Given the description of an element on the screen output the (x, y) to click on. 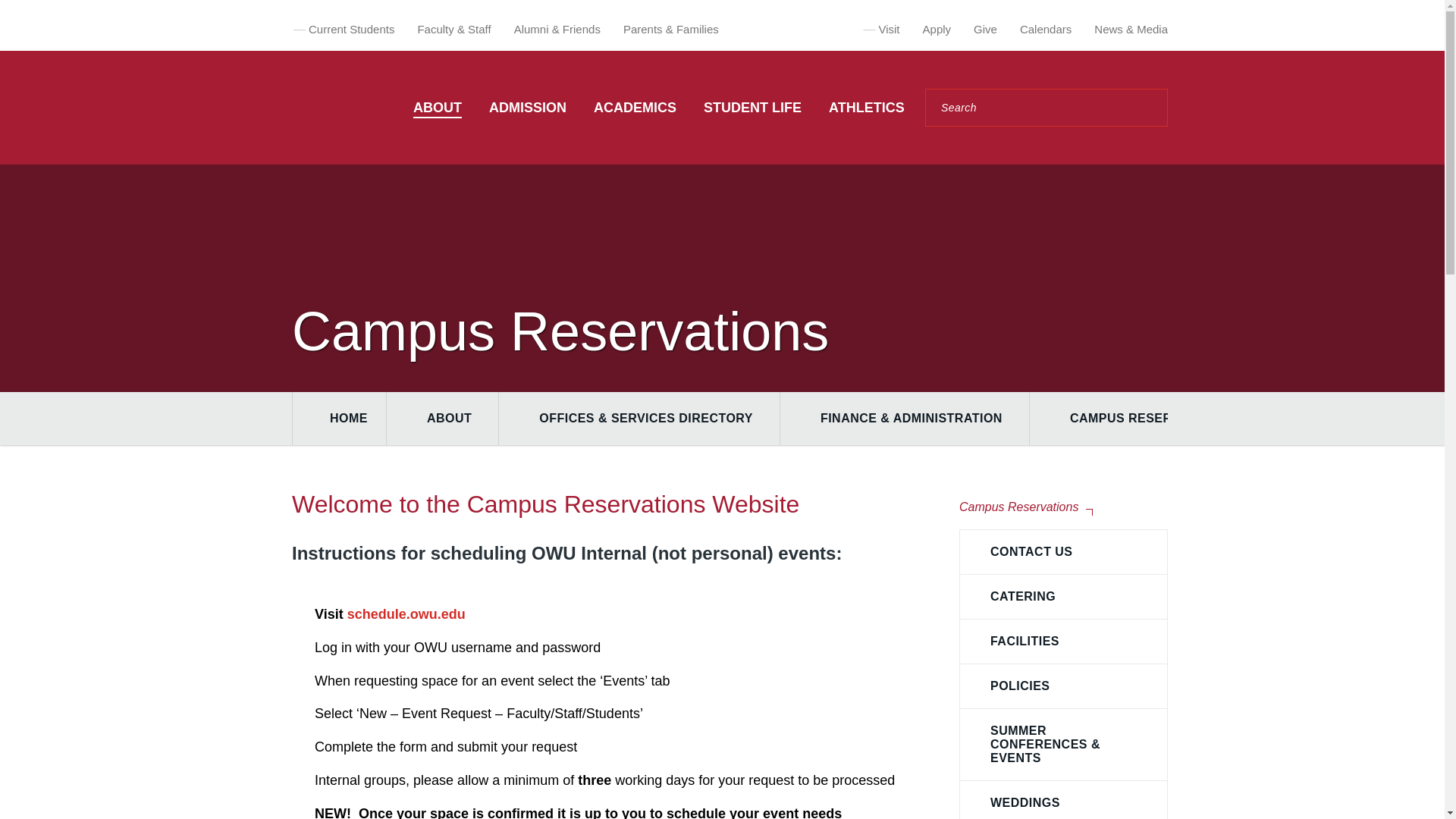
Ohio Wesleyan University (322, 107)
Calendars (1045, 29)
Current Students (351, 29)
ABOUT (437, 107)
Visit (888, 29)
Apply (937, 29)
Give (985, 29)
ACADEMICS (634, 107)
ADMISSION (527, 107)
